Given the description of an element on the screen output the (x, y) to click on. 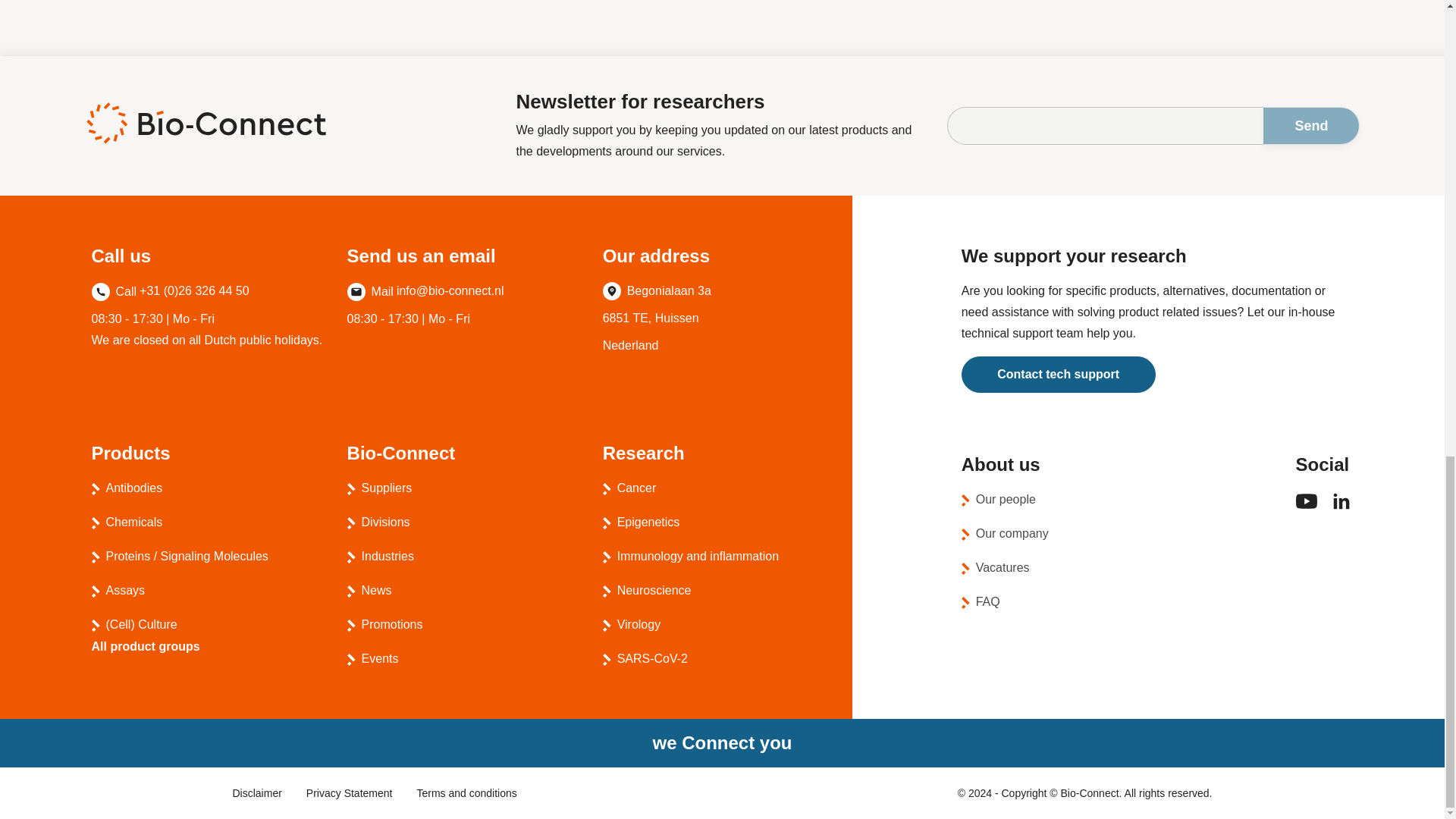
LinkedIn (1341, 508)
Bio-Connect (205, 122)
YouTube (1306, 507)
